Given the description of an element on the screen output the (x, y) to click on. 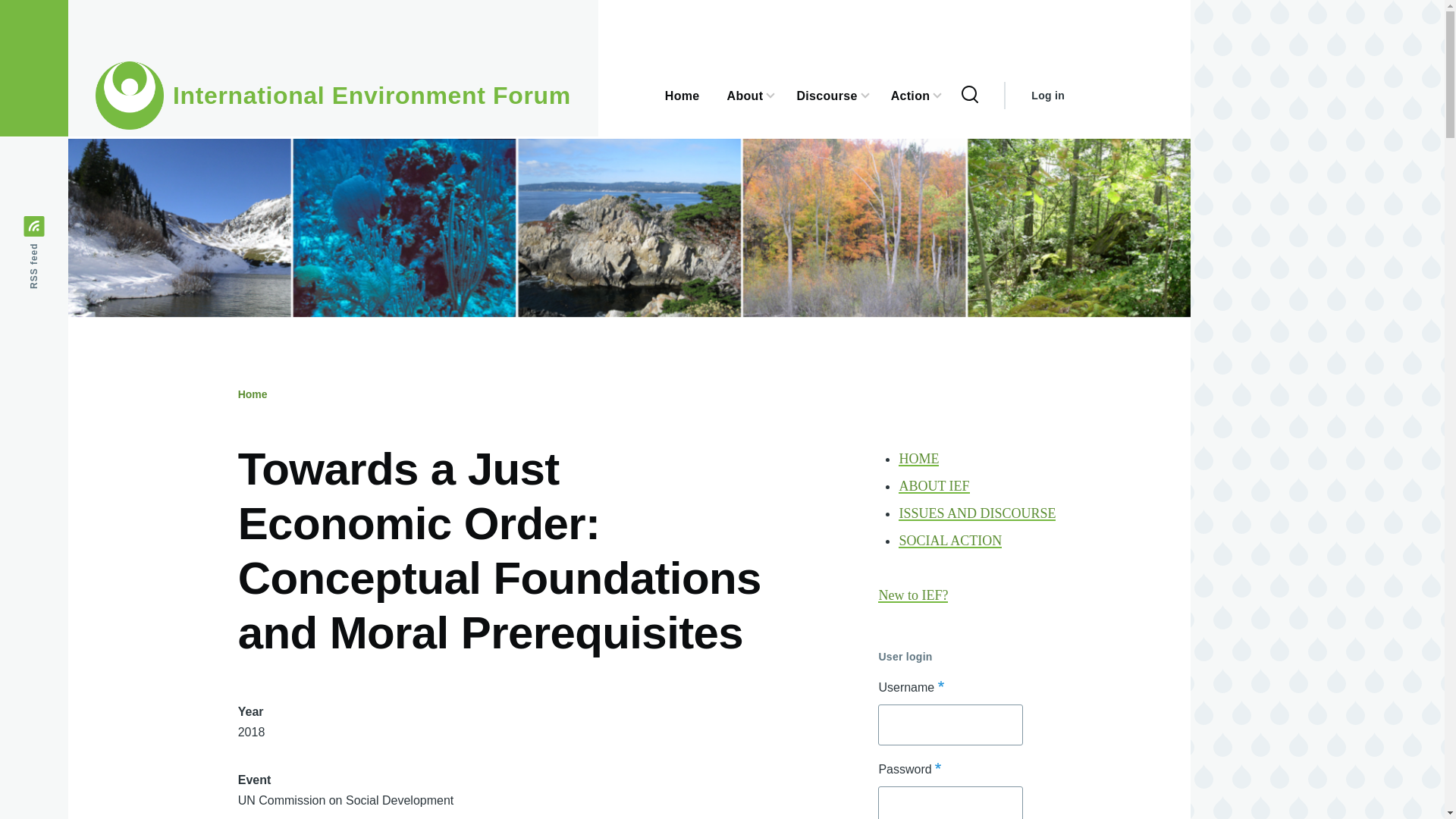
Home (252, 394)
Log in (1047, 94)
International Environment Forum (371, 94)
Home (371, 94)
Skip to main content (595, 6)
